Given the description of an element on the screen output the (x, y) to click on. 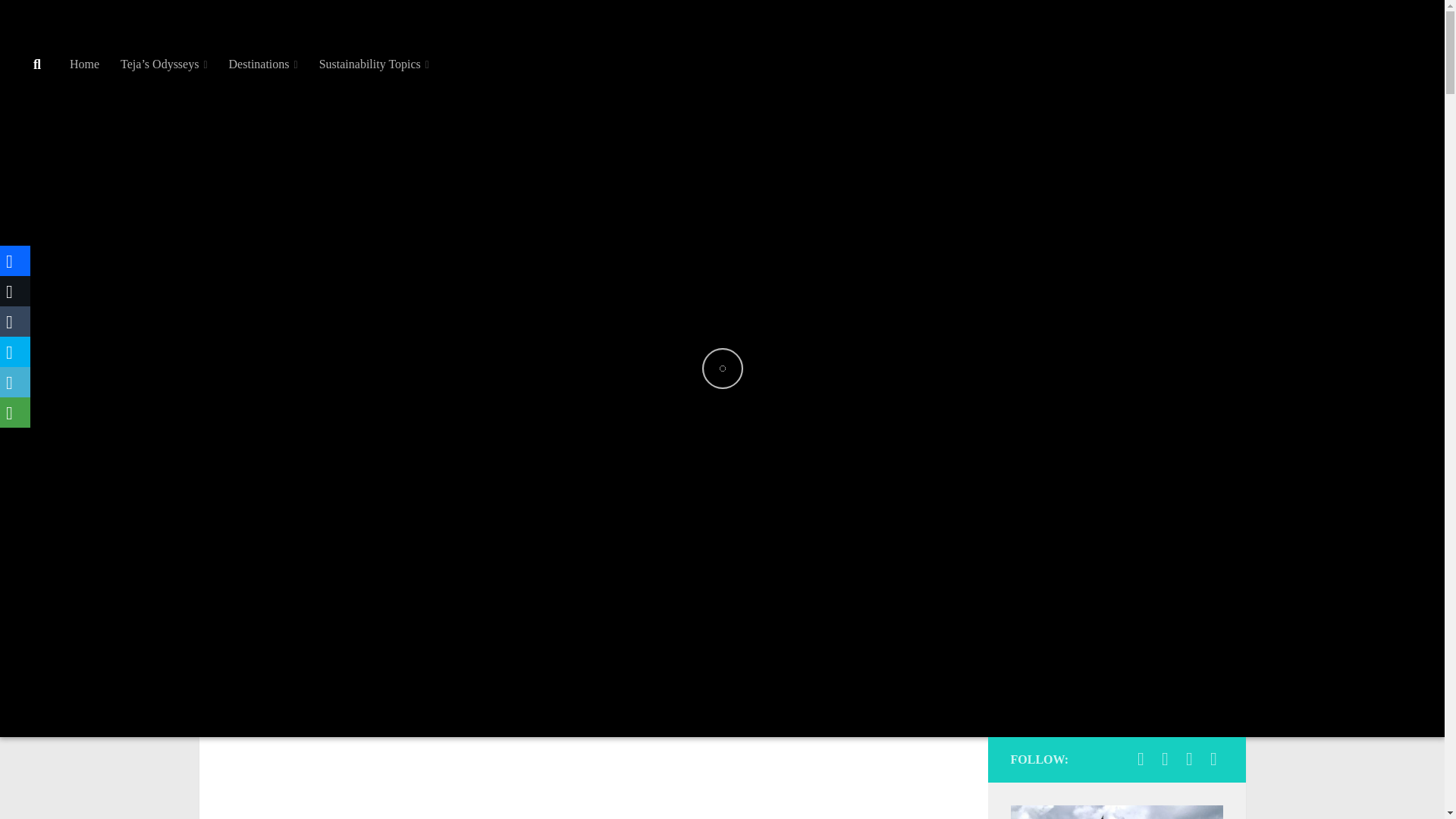
Follow us on Twitter (1213, 759)
Below content (56, 20)
Join the Horizon (1140, 759)
Will You Look Twice? (1164, 759)
Come to the Horizon (1188, 759)
Destinations (263, 64)
Home (84, 64)
